Given the description of an element on the screen output the (x, y) to click on. 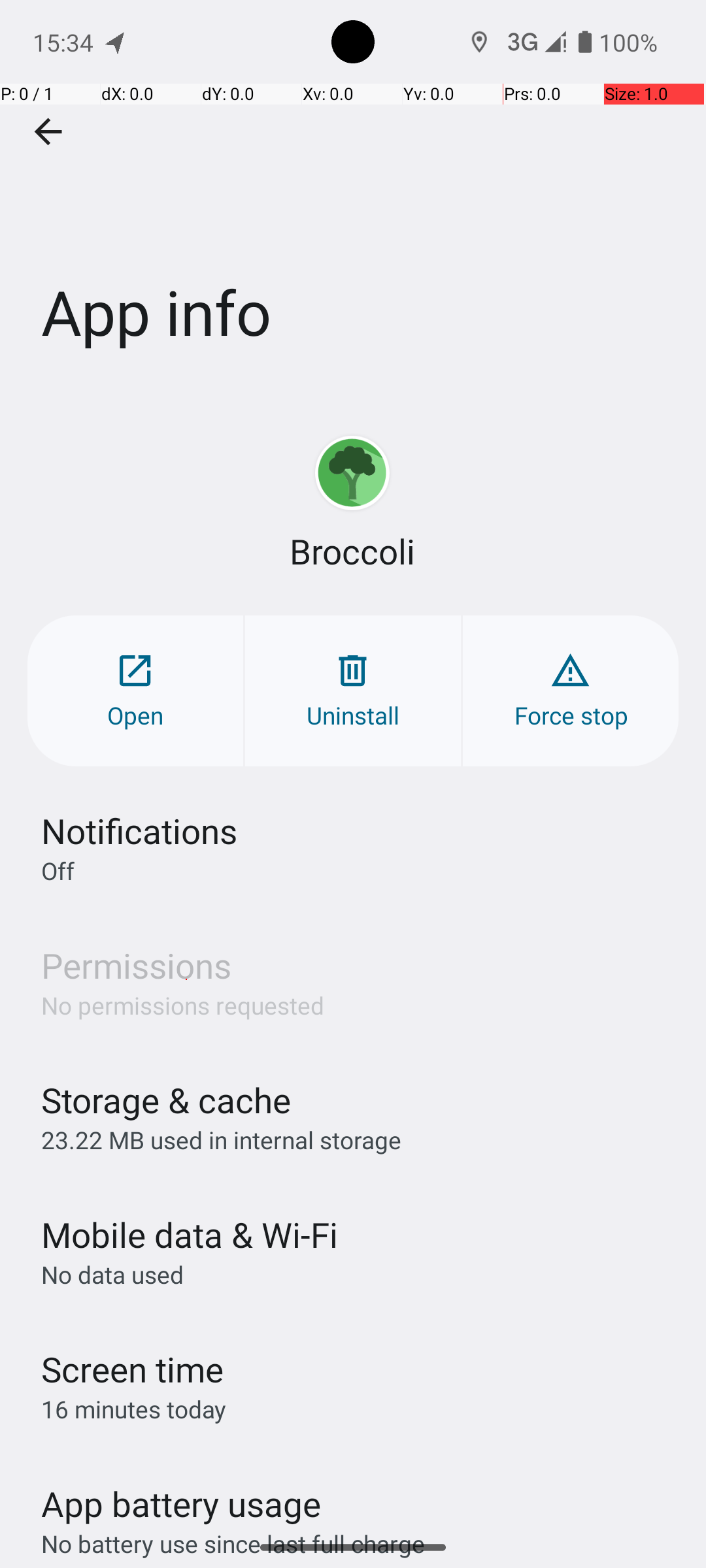
Uninstall Element type: android.widget.Button (352, 690)
No permissions requested Element type: android.widget.TextView (182, 1004)
23.22 MB used in internal storage Element type: android.widget.TextView (221, 1139)
No data used Element type: android.widget.TextView (112, 1273)
16 minutes today Element type: android.widget.TextView (133, 1408)
